Given the description of an element on the screen output the (x, y) to click on. 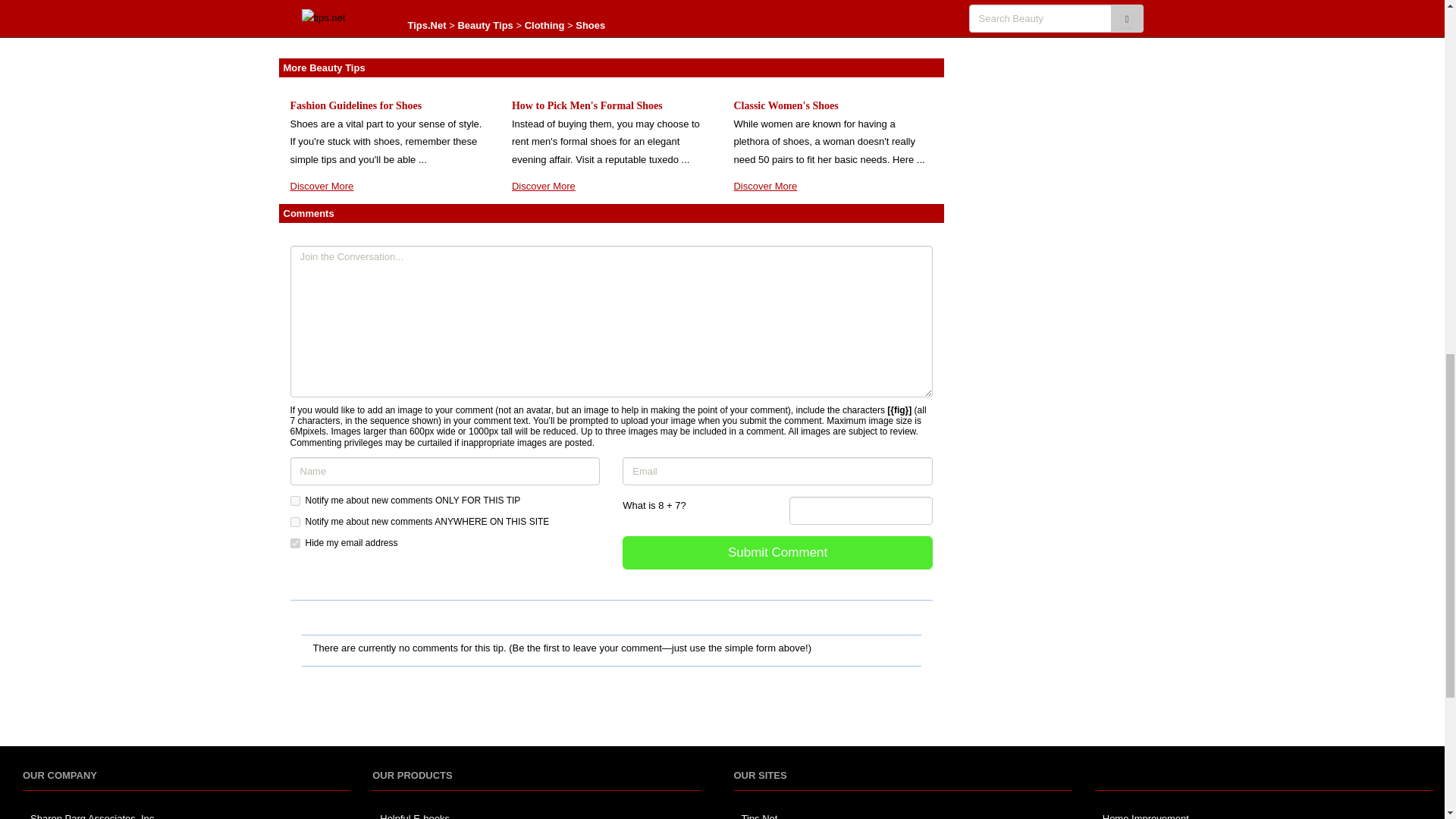
Submit Comment (778, 553)
Discover More (764, 185)
option2 (294, 521)
Discover More (321, 185)
Sharon Parq Associates, Inc. (93, 816)
option3 (294, 542)
Discover More (764, 13)
Discover More (321, 32)
Discover More (543, 185)
Submit Comment (778, 553)
